Given the description of an element on the screen output the (x, y) to click on. 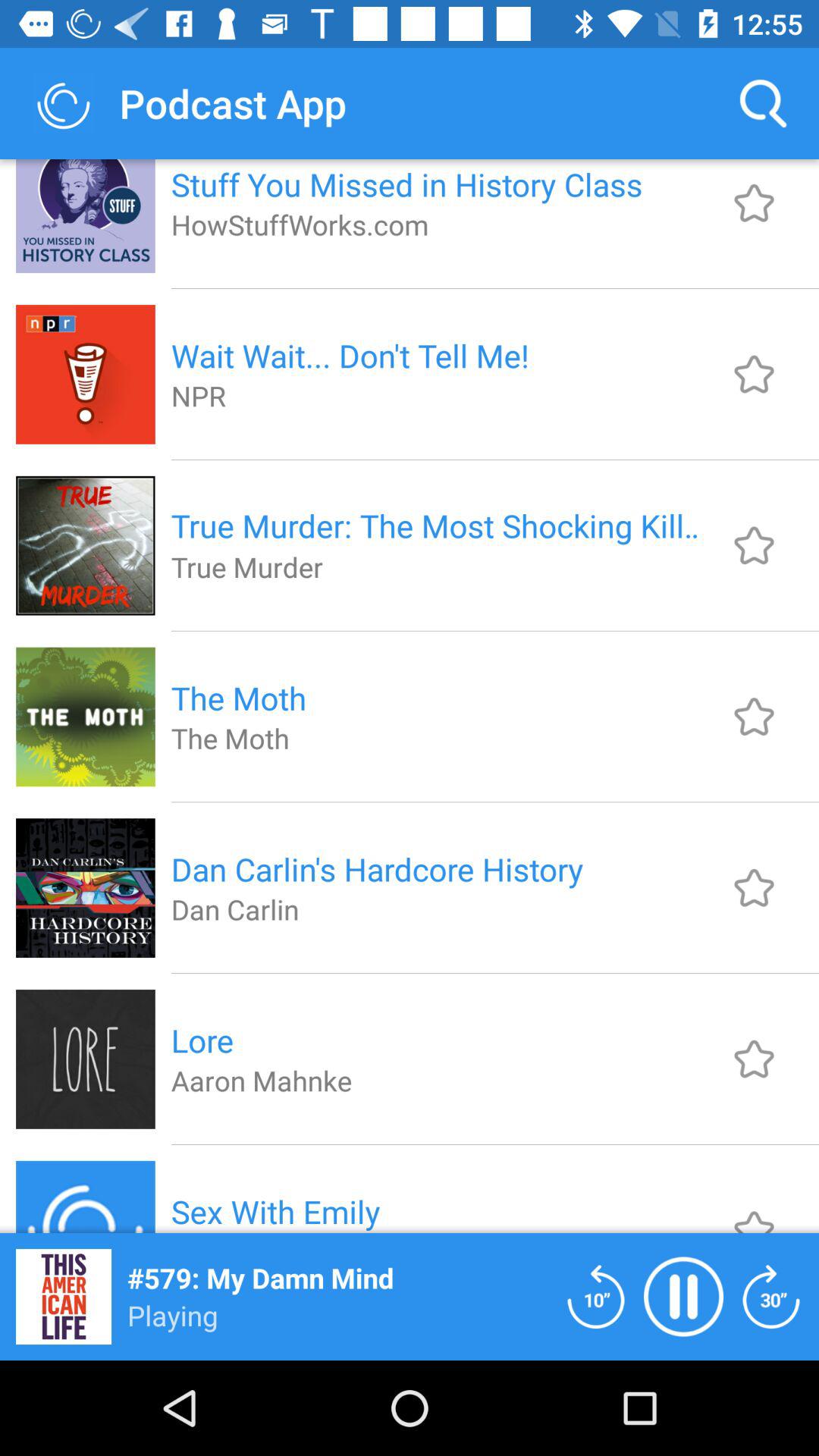
tap the item to the right of stuff you missed item (763, 103)
